Given the description of an element on the screen output the (x, y) to click on. 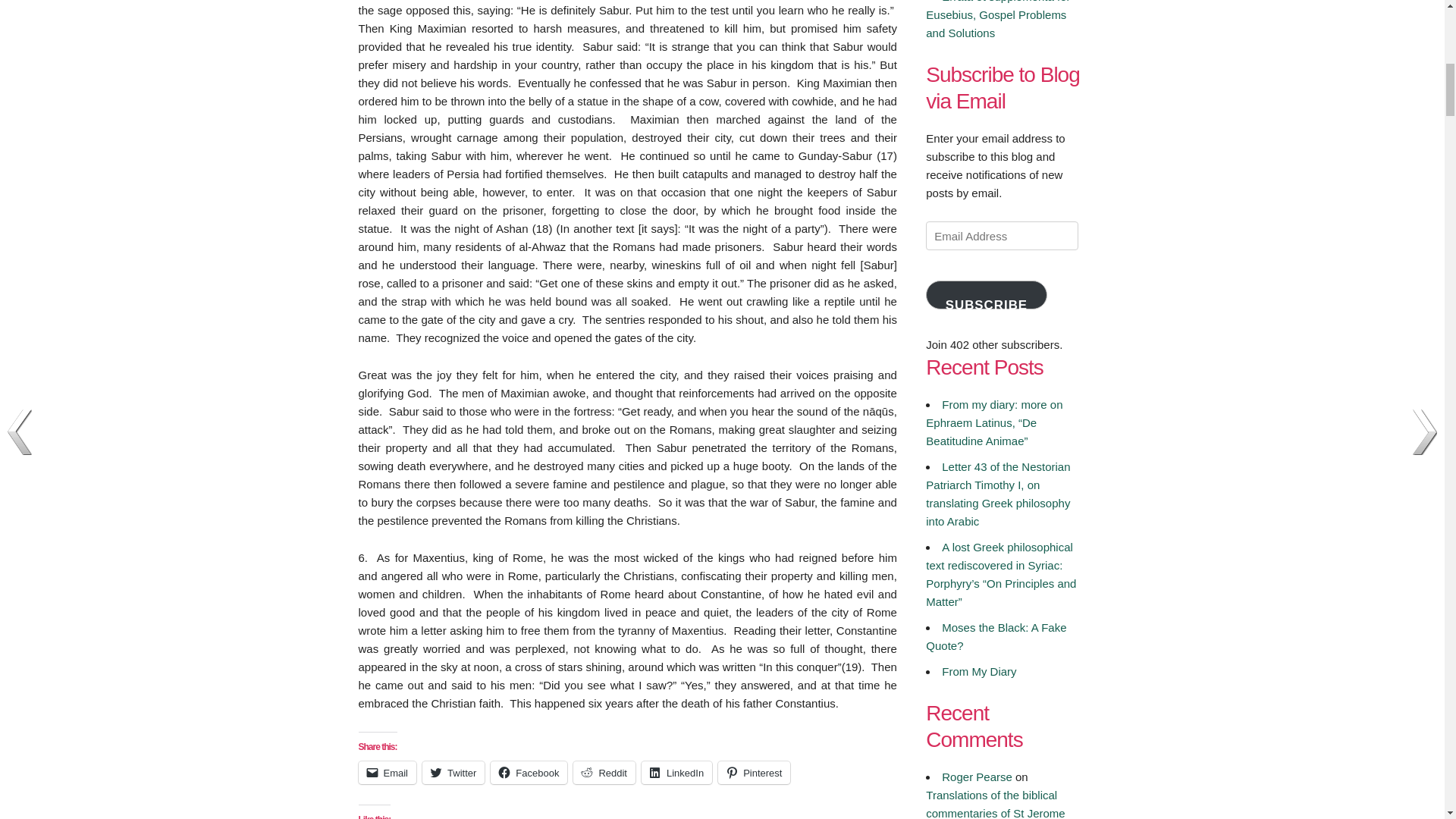
LinkedIn (676, 772)
Click to share on Facebook (528, 772)
Click to share on Reddit (603, 772)
Reddit (603, 772)
Email (387, 772)
Click to email a link to a friend (387, 772)
Twitter (453, 772)
Click to share on LinkedIn (676, 772)
Facebook (528, 772)
Click to share on Twitter (453, 772)
Click to share on Pinterest (753, 772)
Pinterest (753, 772)
